Given the description of an element on the screen output the (x, y) to click on. 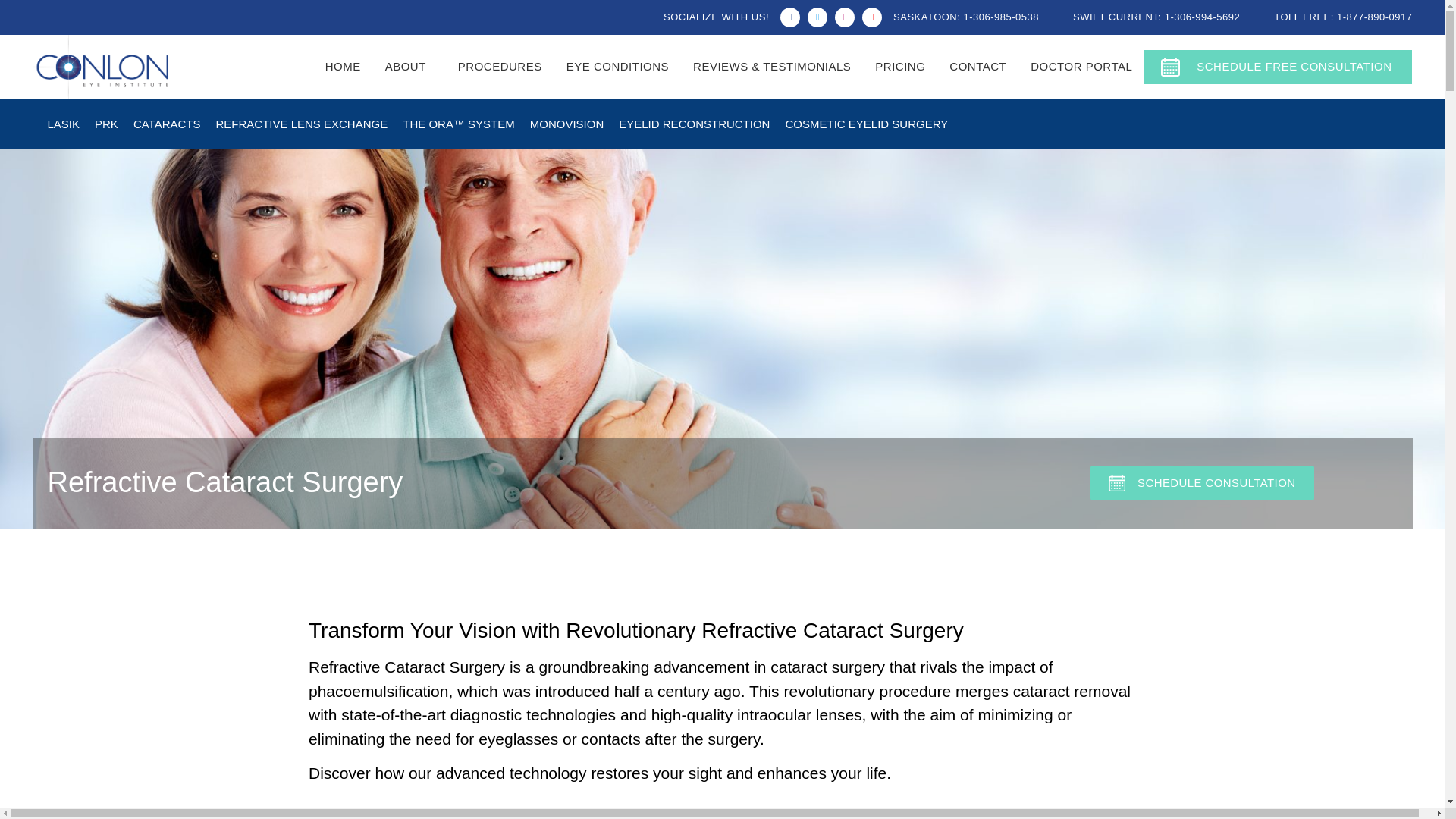
TOLL FREE: 1-877-890-0917 (1343, 17)
REFRACTIVE LENS EXCHANGE (301, 123)
MONOVISION (566, 123)
ABOUT (408, 66)
DOCTOR PORTAL (1080, 66)
LASIK (63, 123)
SASKATOON: 1-306-985-0538 (966, 17)
CATARACTS (166, 123)
HOME (342, 66)
PRK (106, 123)
SCHEDULE FREE CONSULTATION (1278, 66)
SWIFT CURRENT: 1-306-994-5692 (1156, 17)
PROCEDURES (499, 66)
PRICING (900, 66)
CONTACT (977, 66)
